Given the description of an element on the screen output the (x, y) to click on. 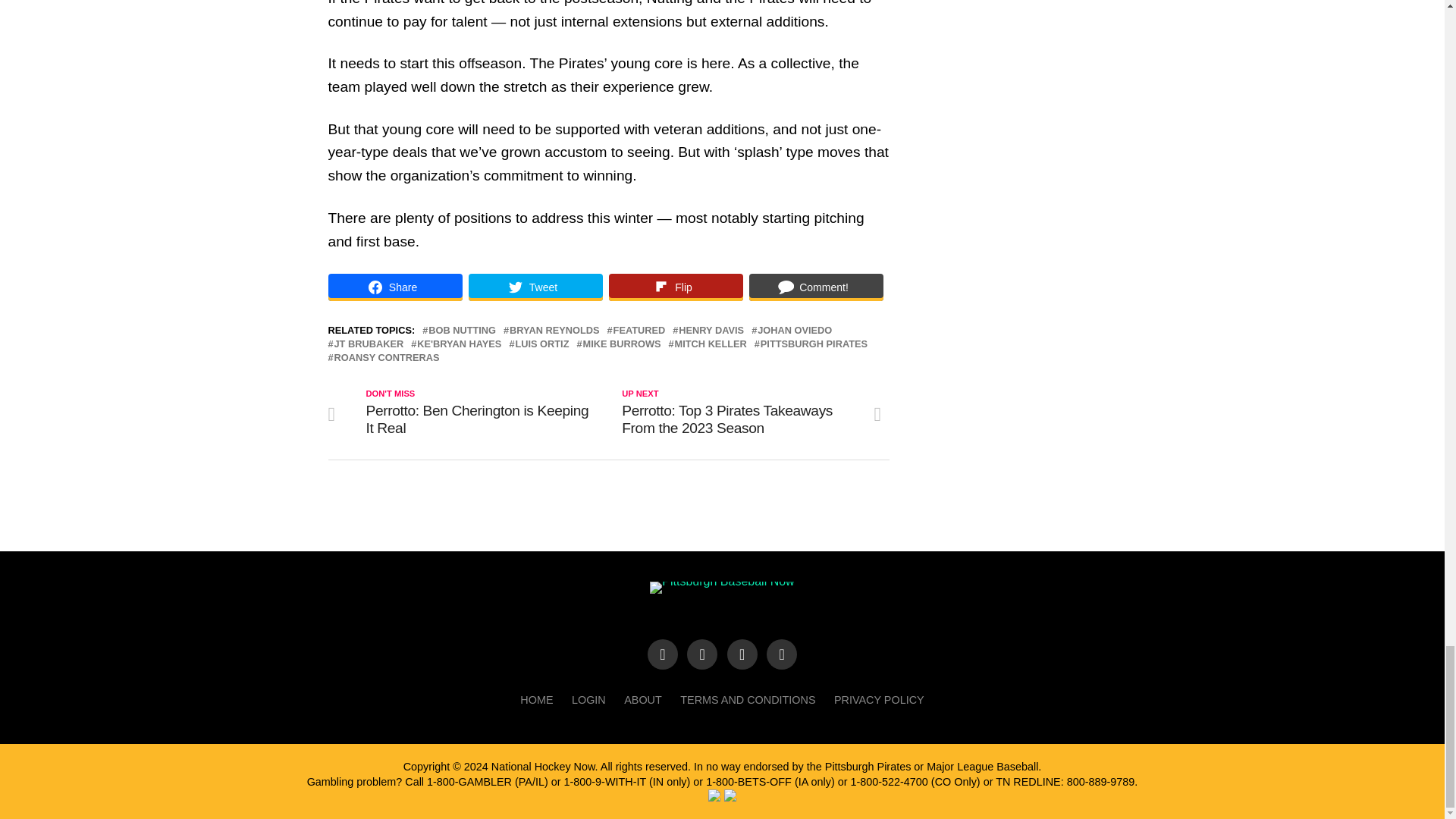
Share on Flip (675, 287)
Share on Share (394, 287)
Share on Tweet (535, 287)
Share on Comment! (816, 287)
